Given the description of an element on the screen output the (x, y) to click on. 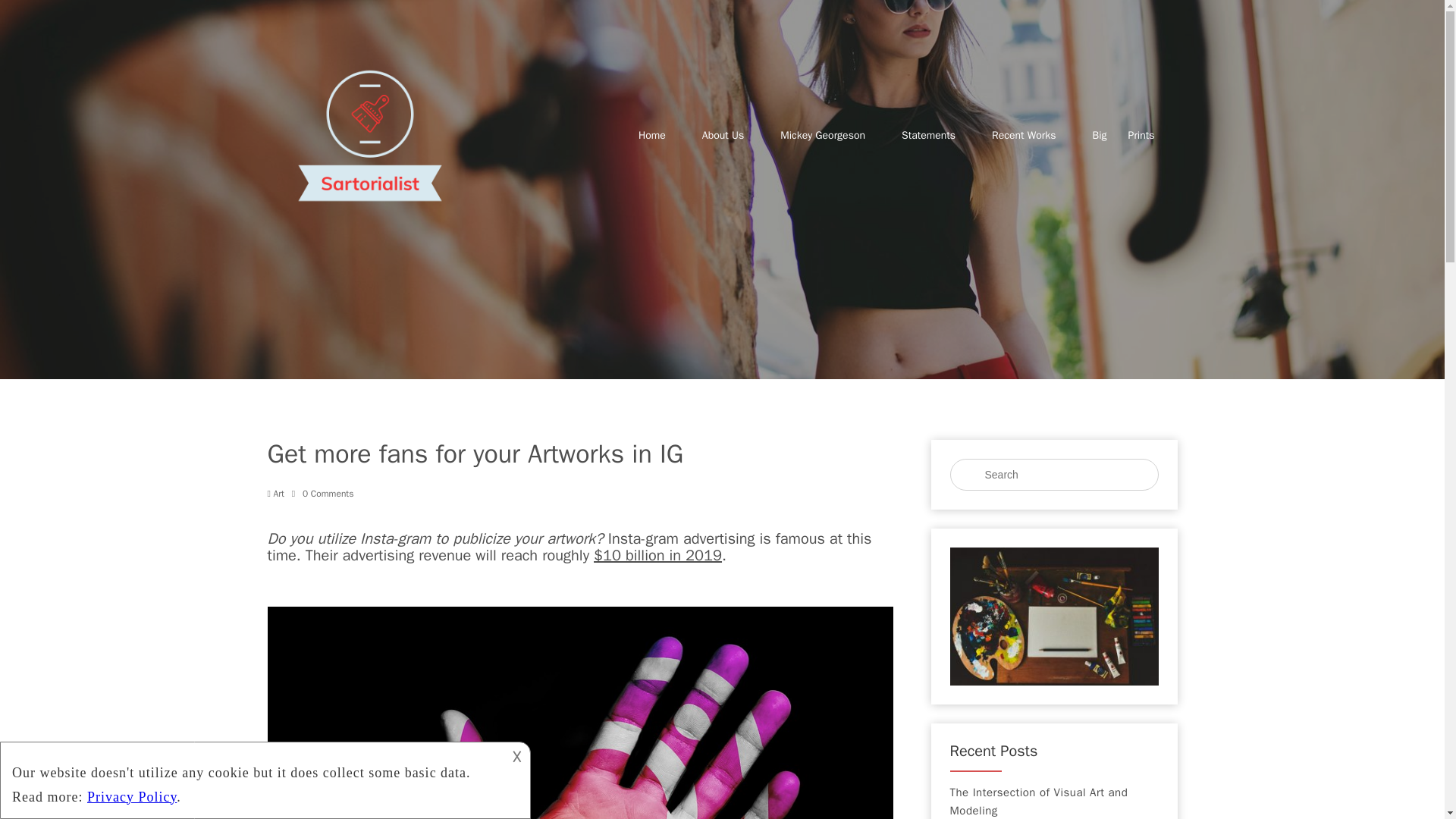
description (252, 780)
0 Comments (322, 493)
Recent Works (1023, 135)
Mickey Georgeson (822, 135)
The Intersection of Visual Art and Modeling (1053, 800)
Statements (928, 135)
About Us (722, 135)
